Given the description of an element on the screen output the (x, y) to click on. 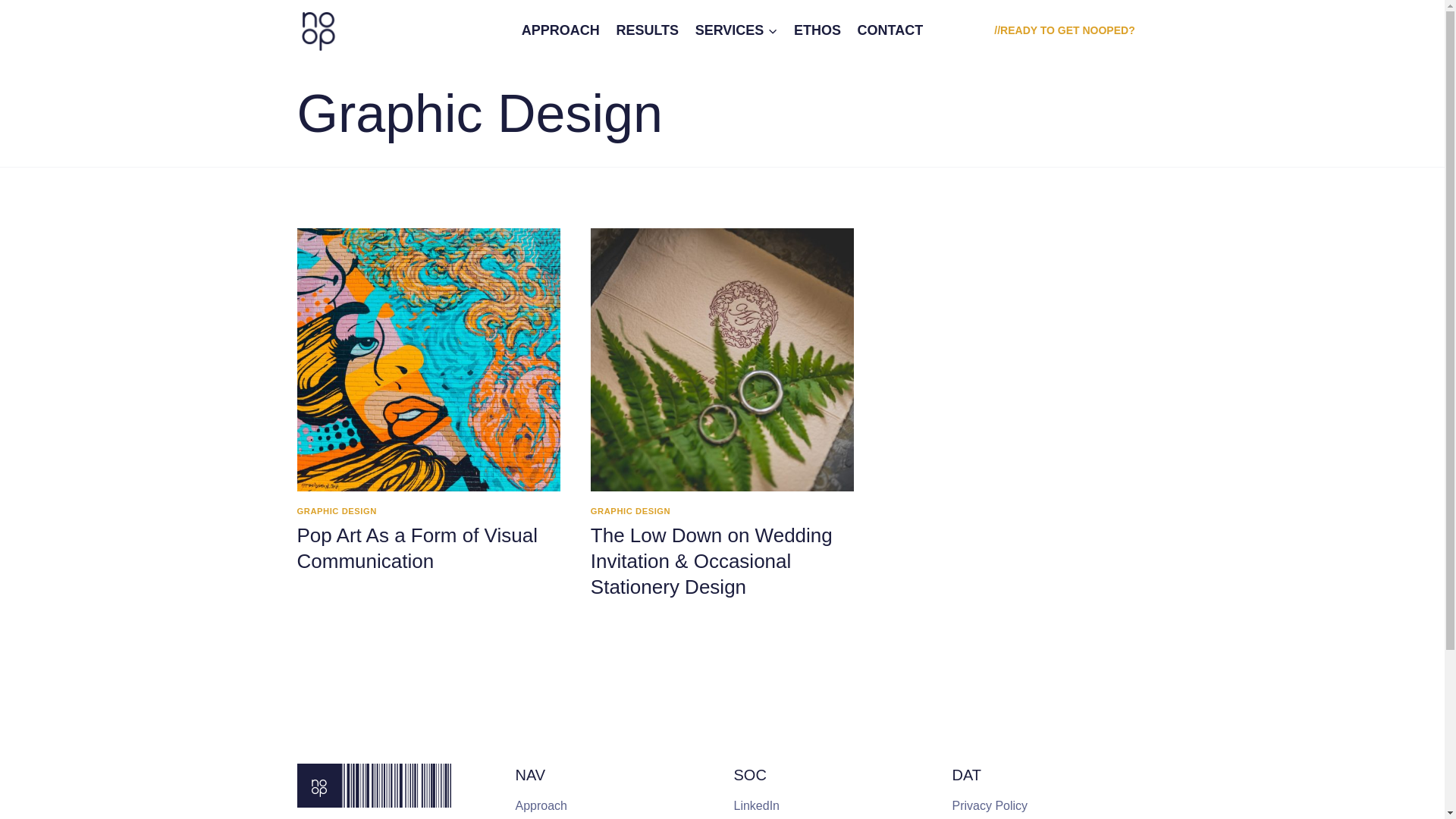
//READY TO GET NOOPED? Element type: text (1064, 29)
Privacy Policy Element type: text (1050, 805)
LinkedIn Element type: text (831, 805)
ETHOS Element type: text (817, 29)
RESULTS Element type: text (647, 29)
Skip to content Element type: text (0, 0)
CONTACT Element type: text (890, 29)
Pop Art As a Form of Visual Communication Element type: text (417, 548)
GRAPHIC DESIGN Element type: text (336, 510)
APPROACH Element type: text (560, 29)
Approach Element type: text (613, 805)
GRAPHIC DESIGN Element type: text (630, 510)
SERVICES Element type: text (736, 29)
